Given the description of an element on the screen output the (x, y) to click on. 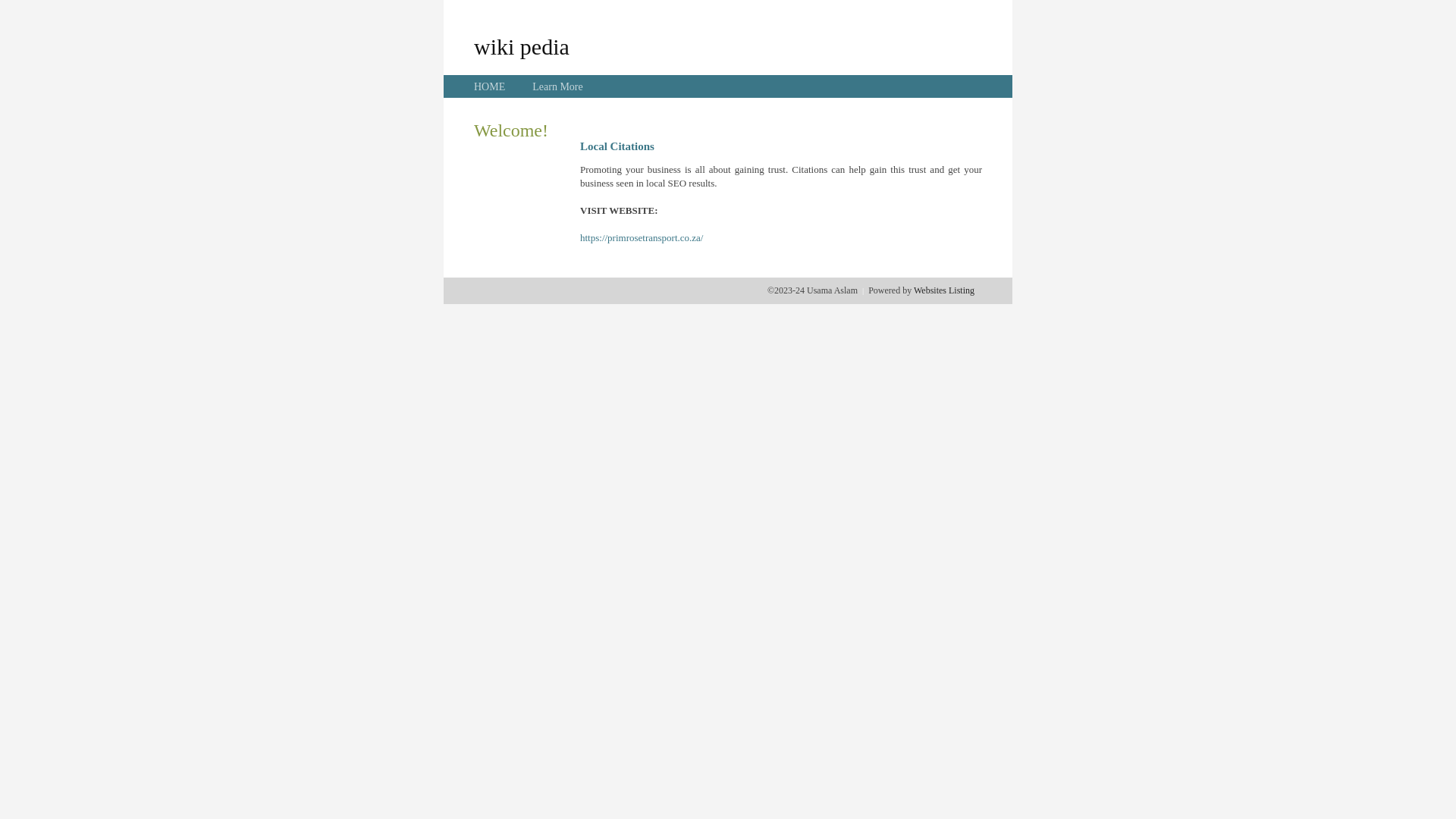
Learn More Element type: text (557, 86)
HOME Element type: text (489, 86)
wiki pedia Element type: text (521, 46)
Websites Listing Element type: text (943, 290)
https://primrosetransport.co.za/ Element type: text (641, 237)
